Given the description of an element on the screen output the (x, y) to click on. 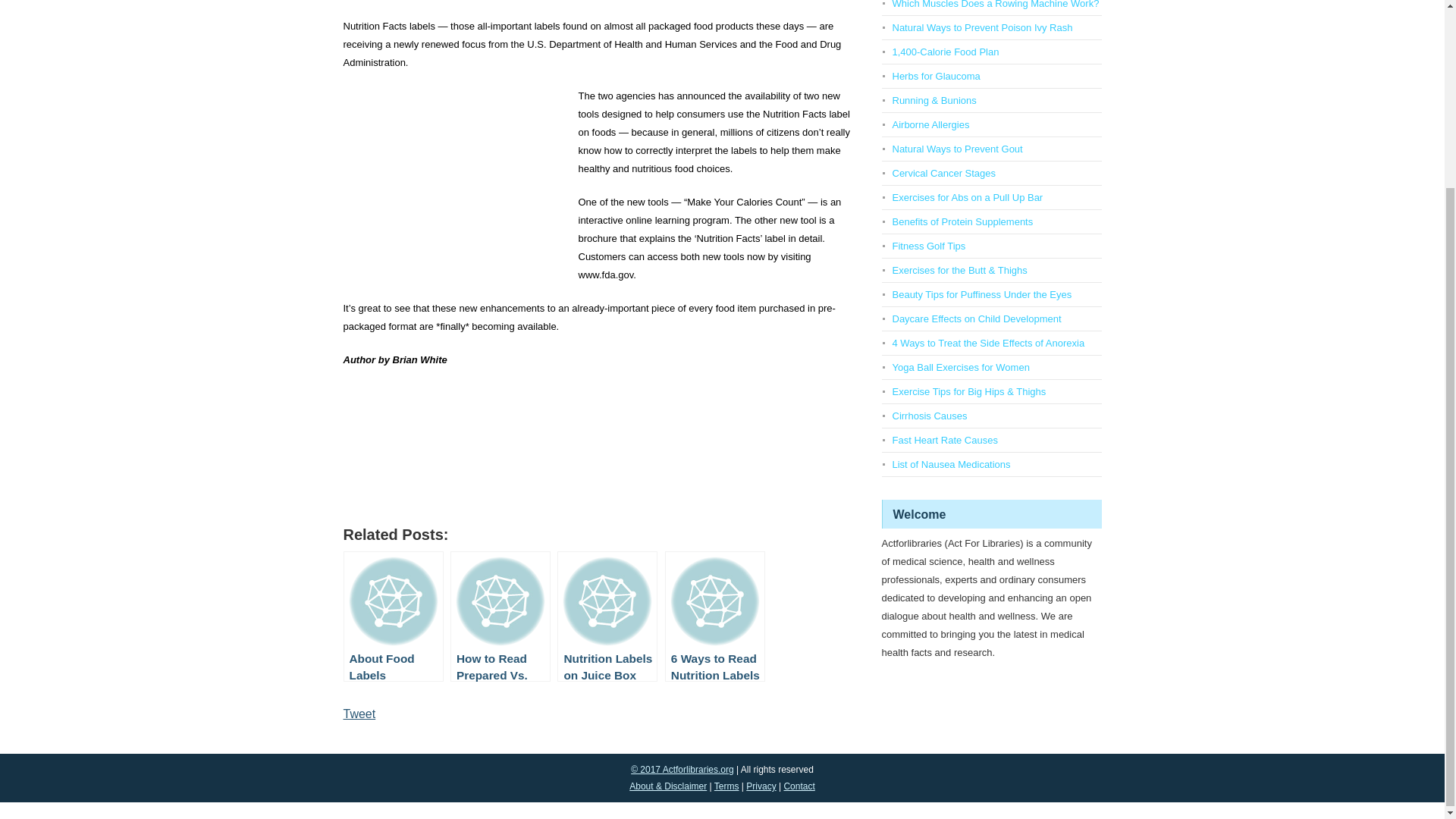
Natural Ways to Prevent Poison Ivy Rash (981, 27)
Cirrhosis Causes (928, 415)
Beauty Tips for Puffiness Under the Eyes (981, 294)
Exercises for Abs on a Pull Up Bar (966, 197)
Herbs for Glaucoma (935, 75)
1,400-Calorie Food Plan (944, 51)
Cervical Cancer Stages (943, 173)
Exercises for Abs on a Pull Up Bar (966, 197)
Yoga Ball Exercises for Women (960, 367)
Fitness Golf Tips (928, 245)
Which Muscles Does a Rowing Machine Work? (995, 4)
Cervical Cancer Stages (943, 173)
Benefits of Protein Supplements (961, 221)
Fitness Golf Tips (928, 245)
Benefits of Protein Supplements (961, 221)
